Given the description of an element on the screen output the (x, y) to click on. 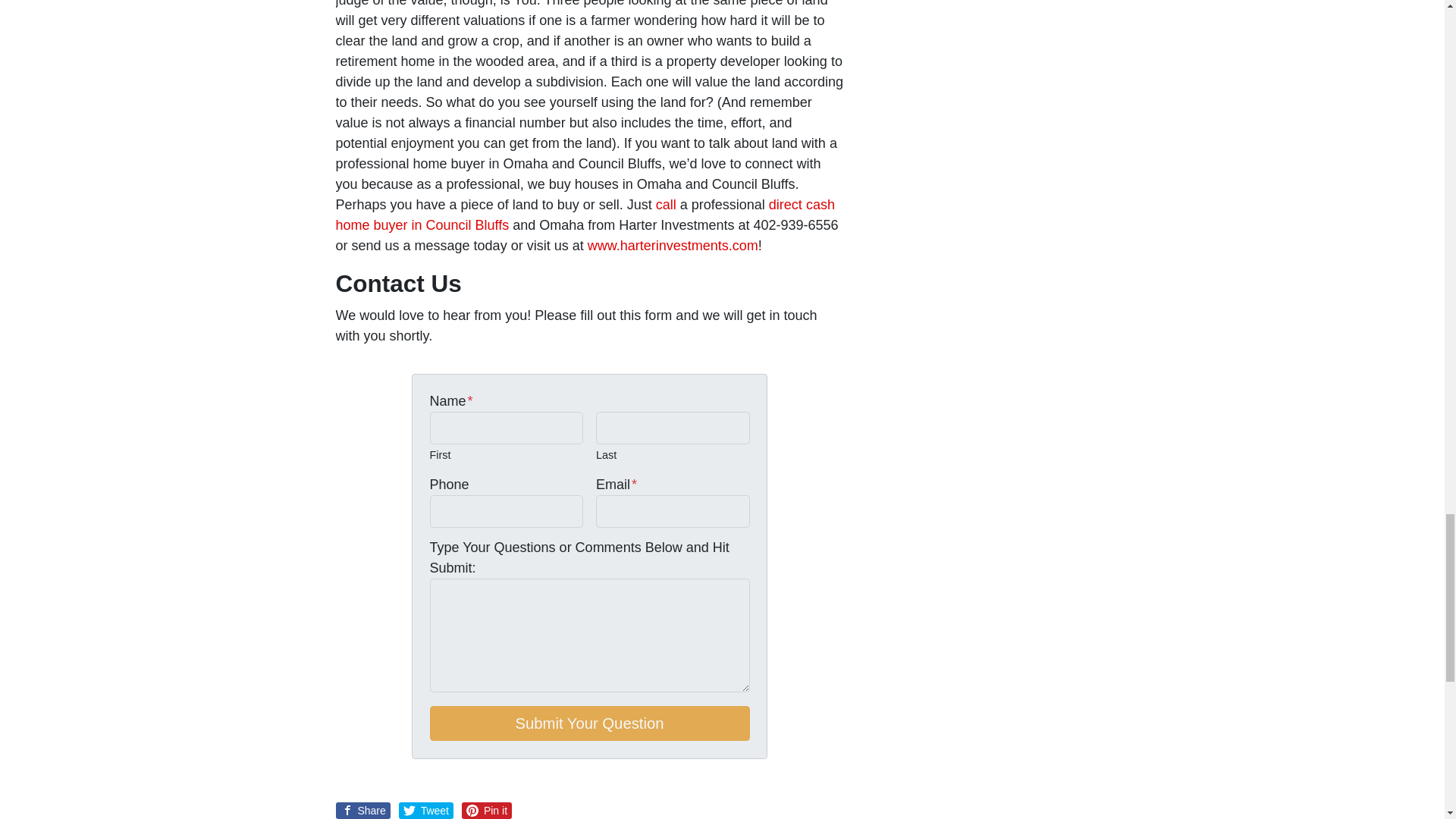
Submit Your Question  (589, 723)
www.harterinvestments.com (673, 245)
Share on Facebook (362, 810)
Share on Twitter (425, 810)
call (666, 204)
Pin it (486, 810)
Share on Pinterest (486, 810)
Tweet (425, 810)
direct cash home buyer in Council Bluffs (584, 214)
Submit Your Question  (589, 723)
